Given the description of an element on the screen output the (x, y) to click on. 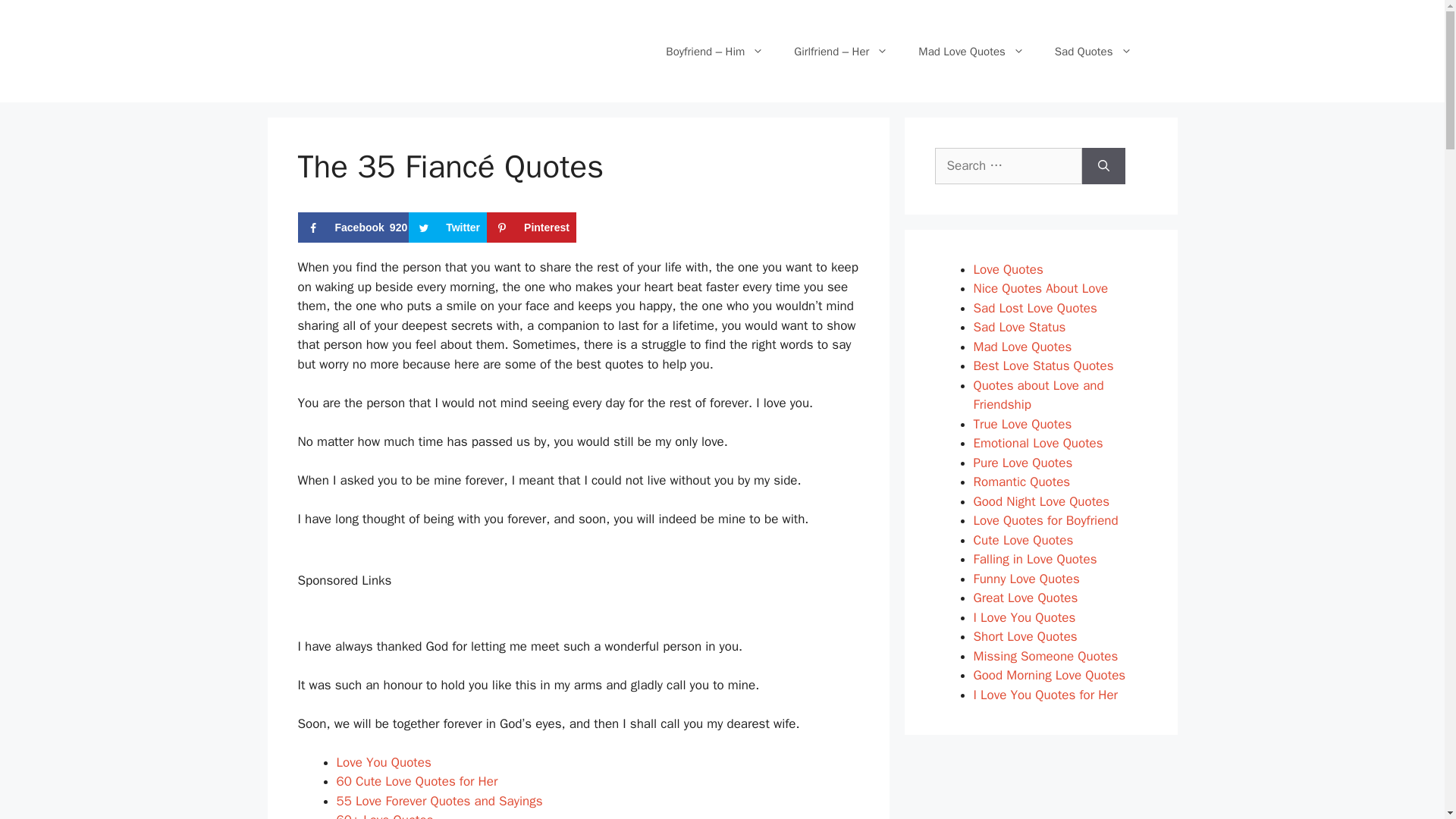
Share on Twitter (447, 227)
lovequotesmessages (380, 77)
60 Cute Love Quotes for Her (416, 781)
lovequotesmessages (380, 48)
Love You Quotes (383, 762)
Share on Facebook (353, 227)
Love You Quotes (383, 762)
Mad Love Quotes (970, 51)
55 Love Forever Quotes and Sayings (353, 227)
Search for: (439, 801)
Save to Pinterest (1007, 166)
Sad Quotes (531, 227)
Pinterest (1093, 51)
Twitter (531, 227)
